Given the description of an element on the screen output the (x, y) to click on. 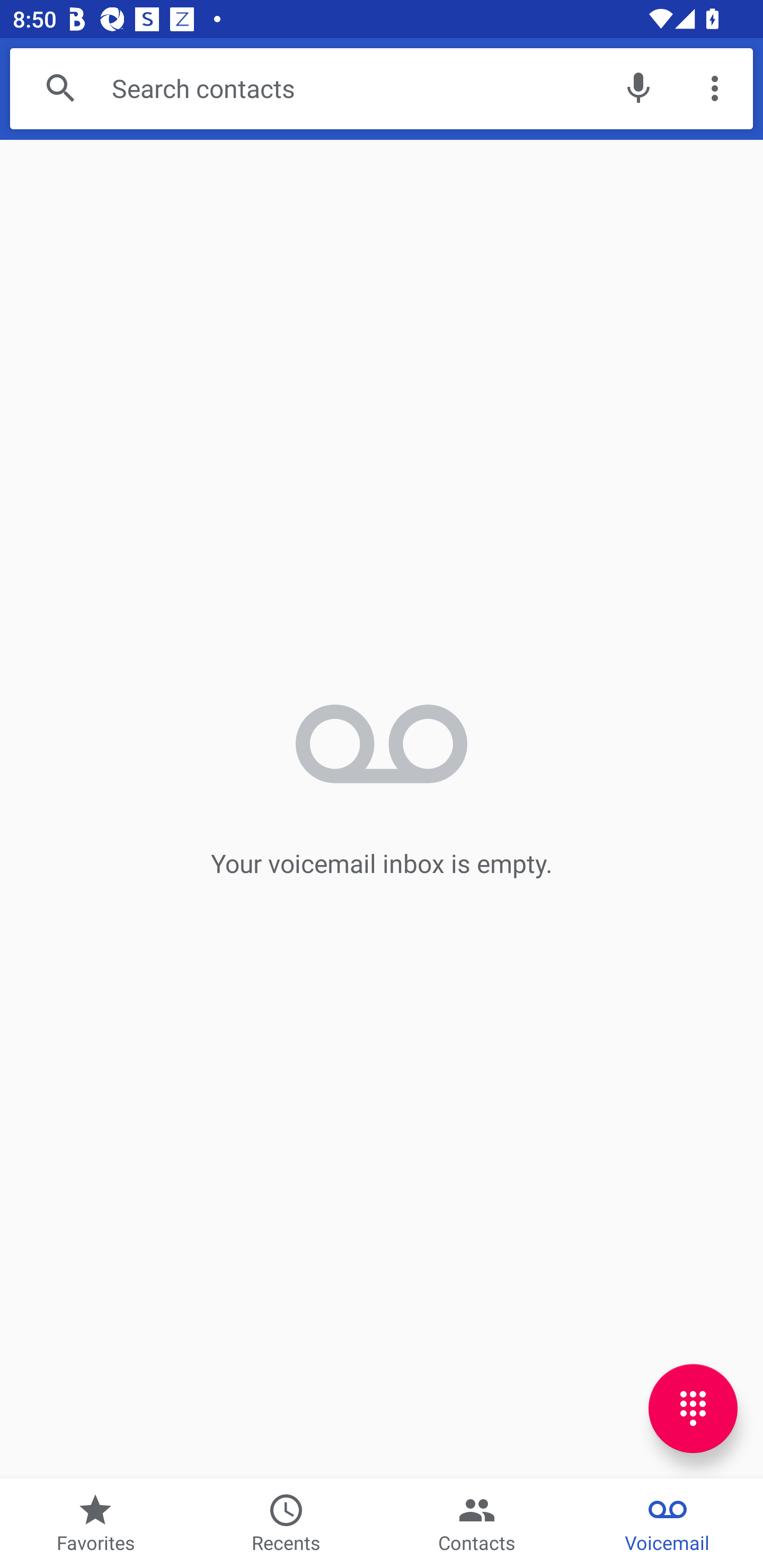
Search contacts Start voice search More options (381, 88)
Start voice search (638, 88)
More options (714, 88)
key pad (692, 1408)
Favorites (95, 1523)
Recents (285, 1523)
Contacts (476, 1523)
Voicemail (667, 1523)
